Given the description of an element on the screen output the (x, y) to click on. 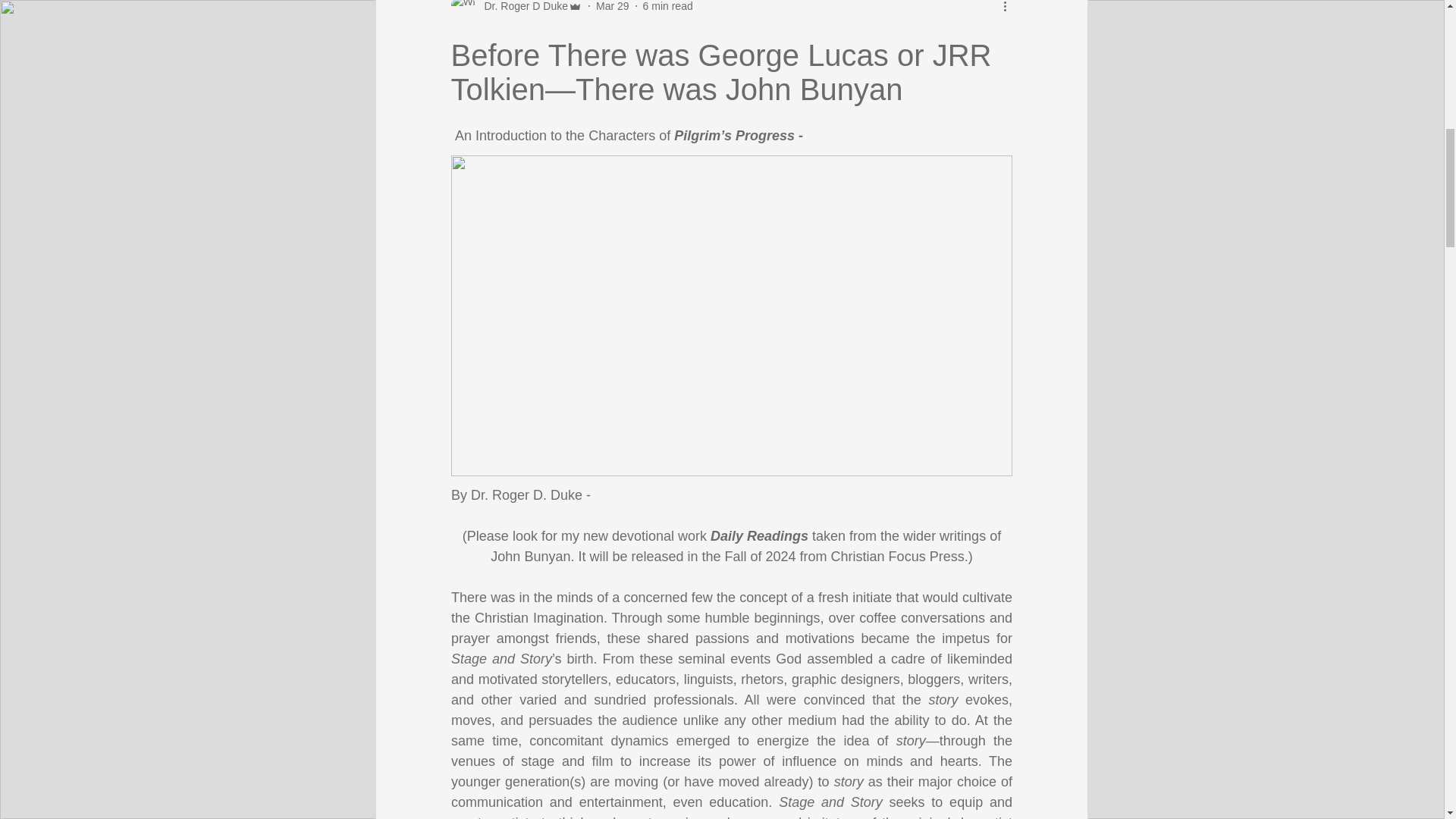
Mar 29 (611, 6)
Dr. Roger D Duke (520, 7)
6 min read (668, 6)
